Given the description of an element on the screen output the (x, y) to click on. 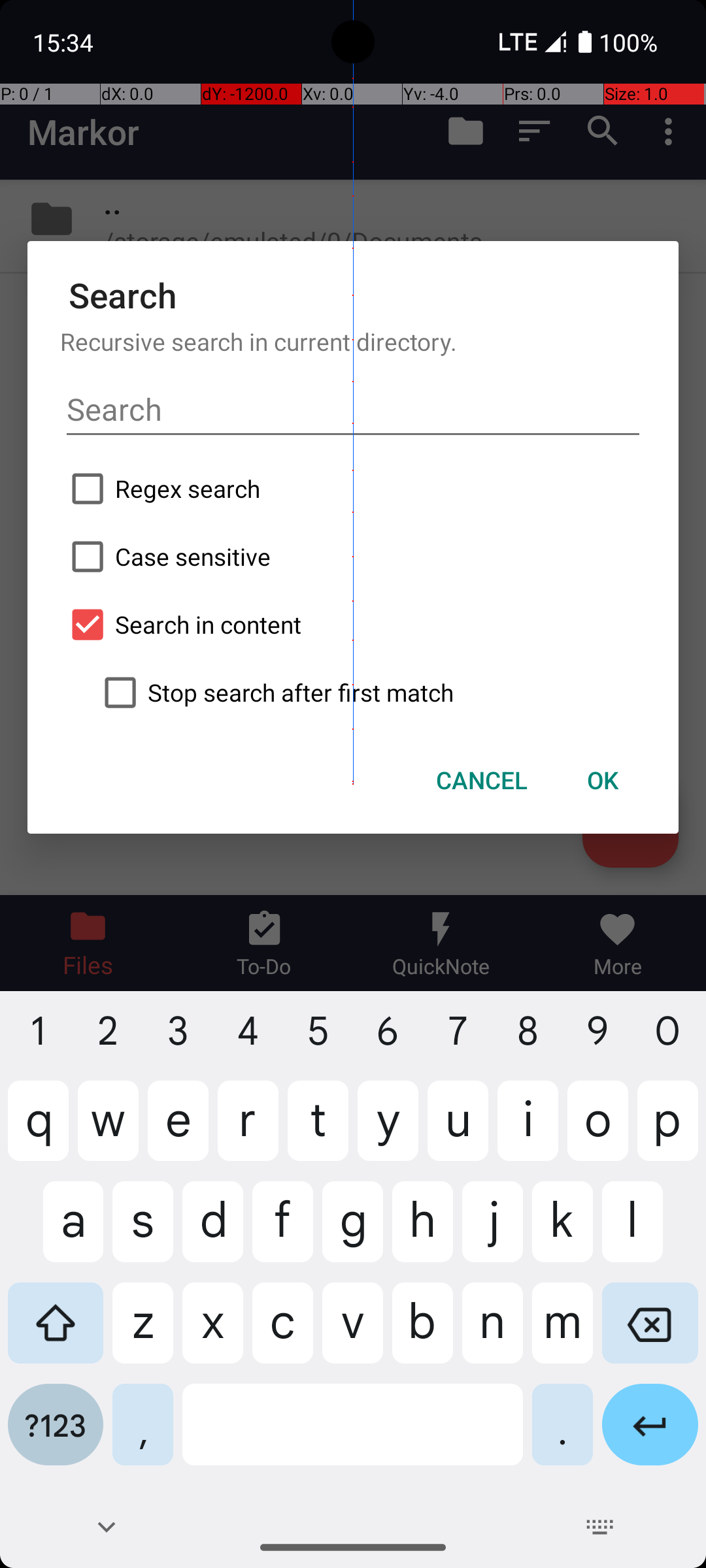
Stop search after first match Element type: android.widget.CheckBox (368, 692)
